Given the description of an element on the screen output the (x, y) to click on. 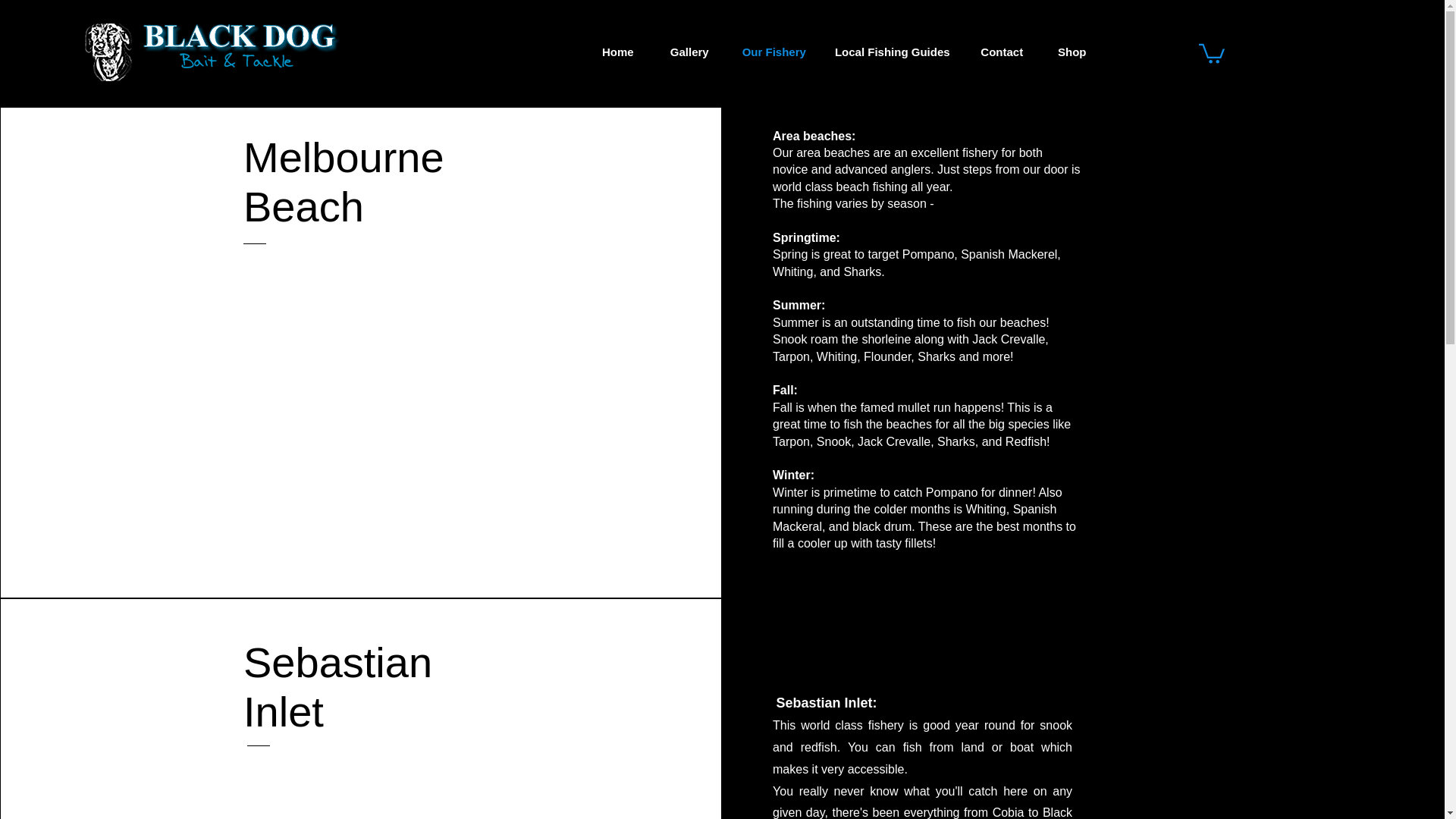
Contact (1001, 52)
Home (617, 52)
Gallery (689, 52)
Local Fishing Guides (891, 52)
Our Fishery (773, 52)
Shop (1072, 52)
